Given the description of an element on the screen output the (x, y) to click on. 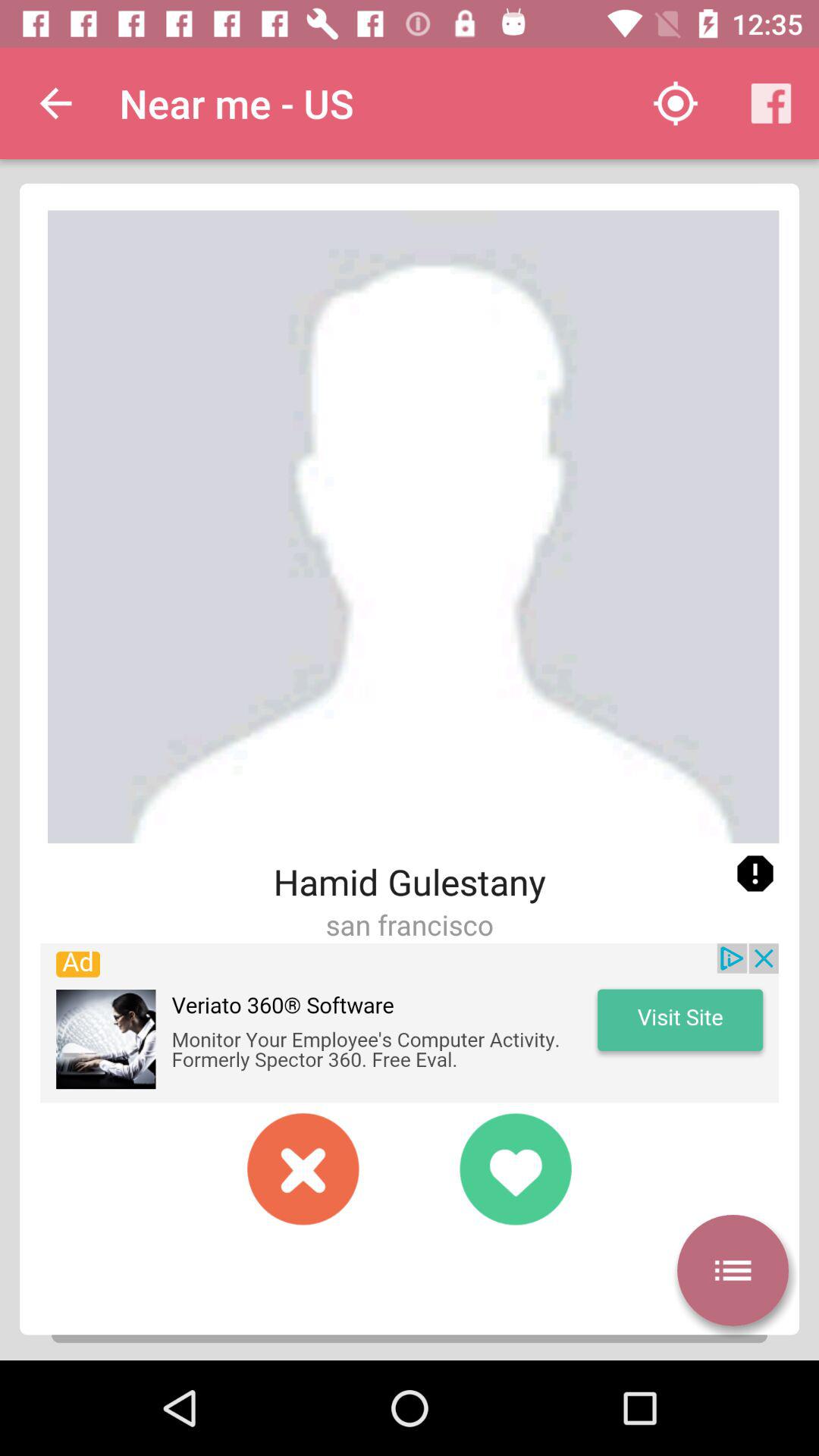
open alert (755, 873)
